Given the description of an element on the screen output the (x, y) to click on. 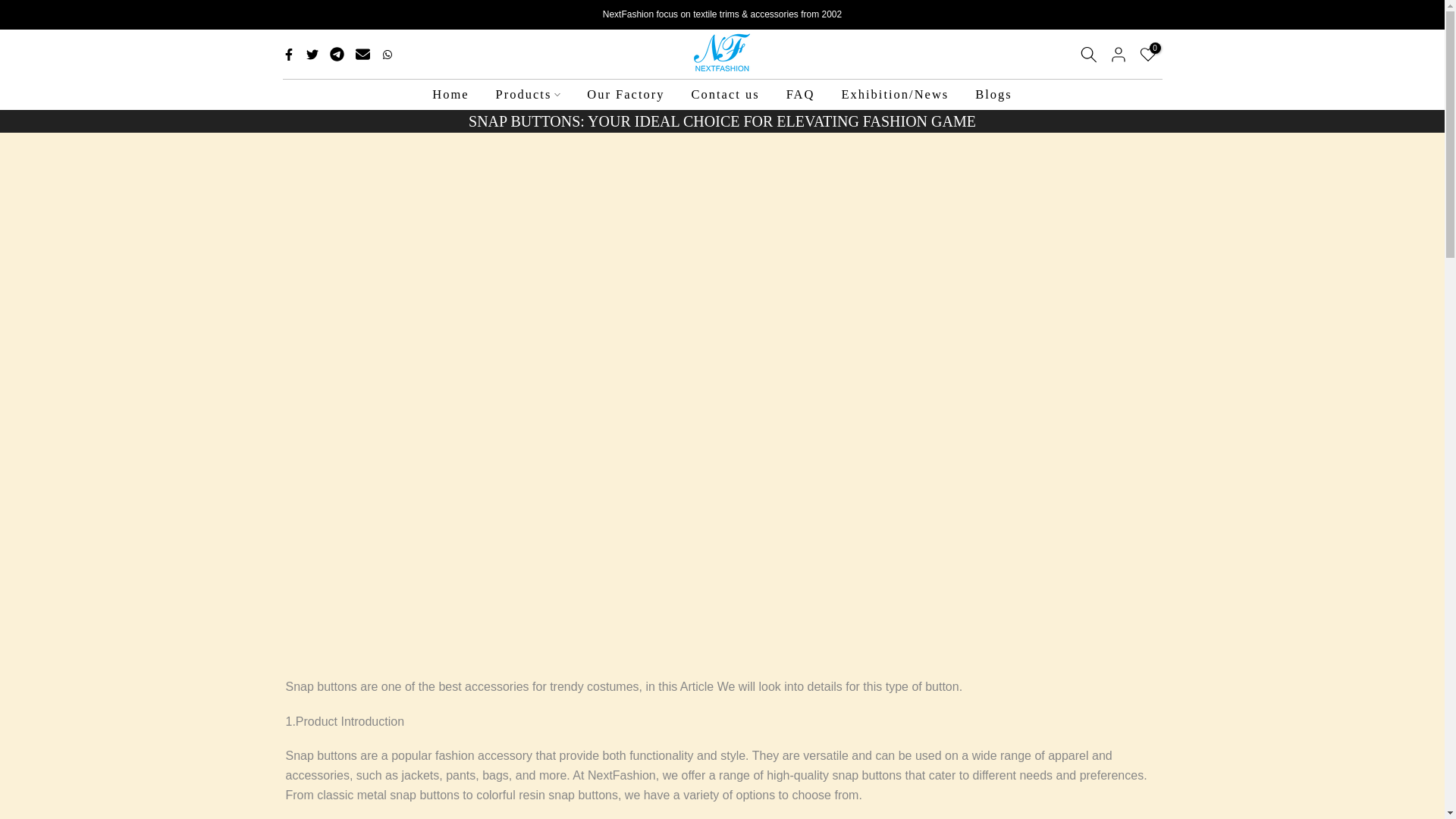
Home (450, 95)
0 (1147, 54)
Products (527, 95)
Skip to content (10, 7)
